Given the description of an element on the screen output the (x, y) to click on. 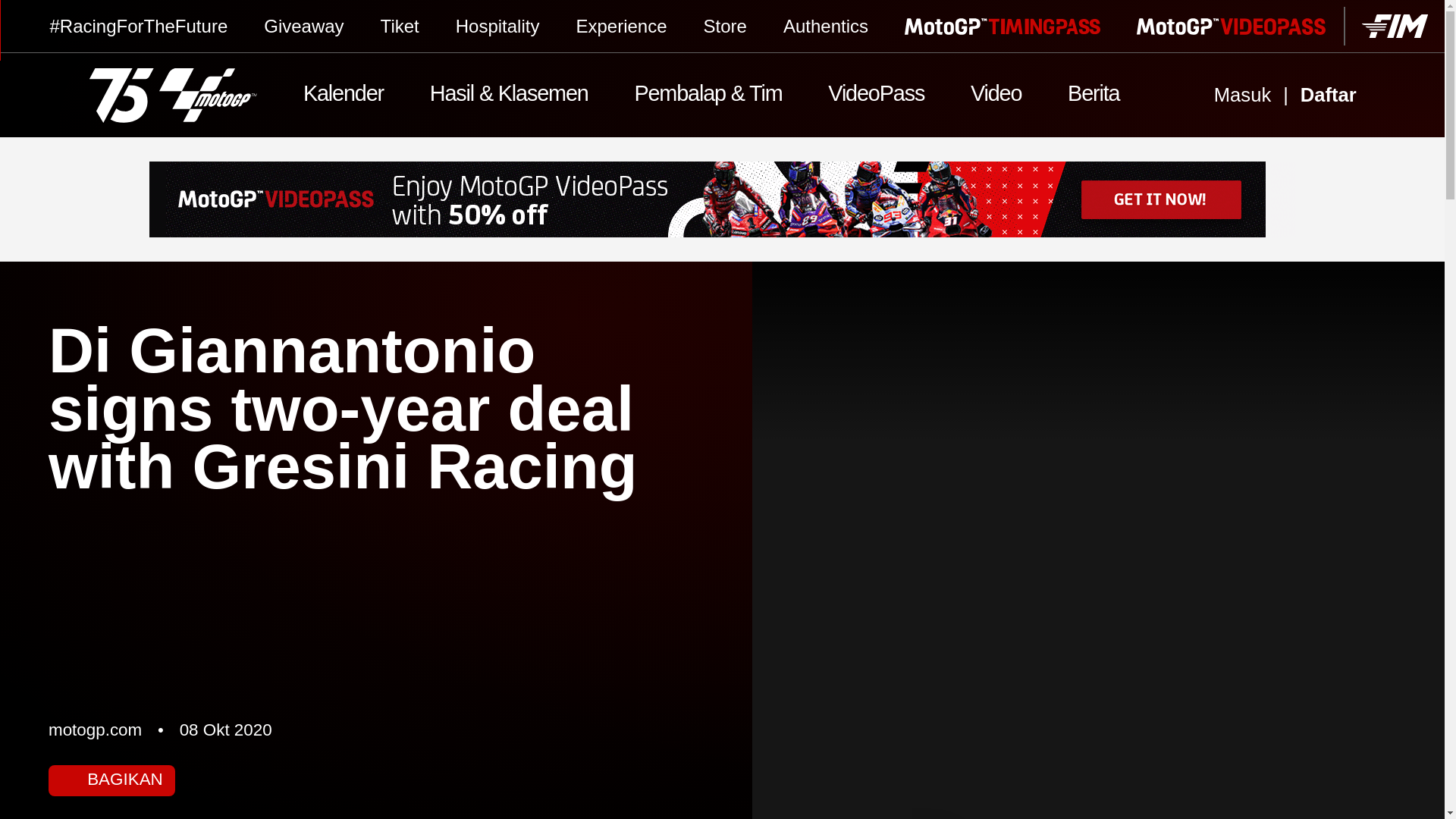
VideoPass (876, 94)
Tiket (399, 26)
3rd party ad content (721, 199)
Kalender (343, 94)
Store (724, 26)
Berita (1094, 94)
Video (996, 94)
Hospitality (497, 26)
Masuk (1242, 95)
Giveaway (303, 26)
